Given the description of an element on the screen output the (x, y) to click on. 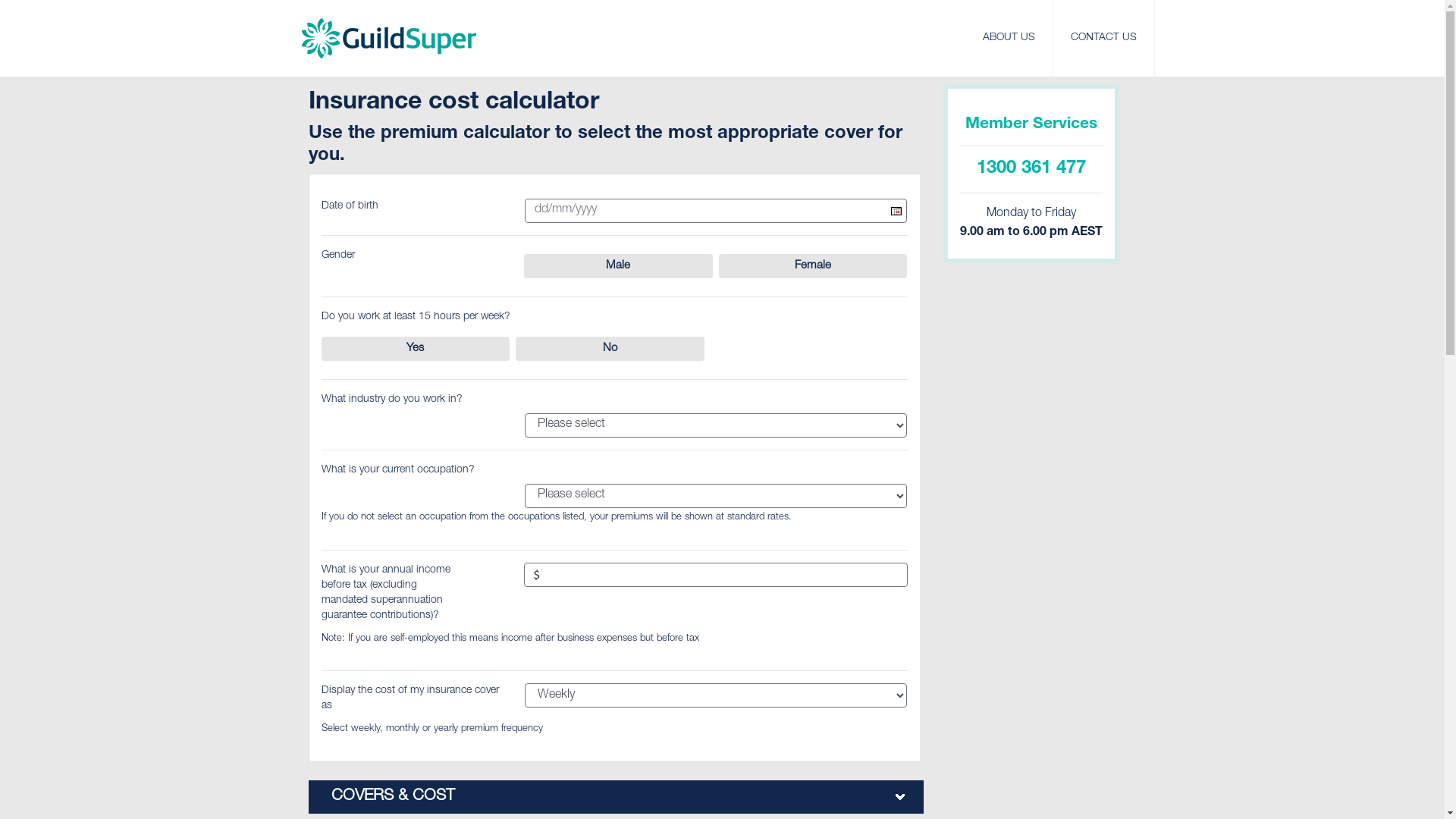
ABOUT US Element type: text (1008, 37)
CONTACT US Element type: text (1103, 37)
COVERS & COST Element type: text (614, 796)
